Given the description of an element on the screen output the (x, y) to click on. 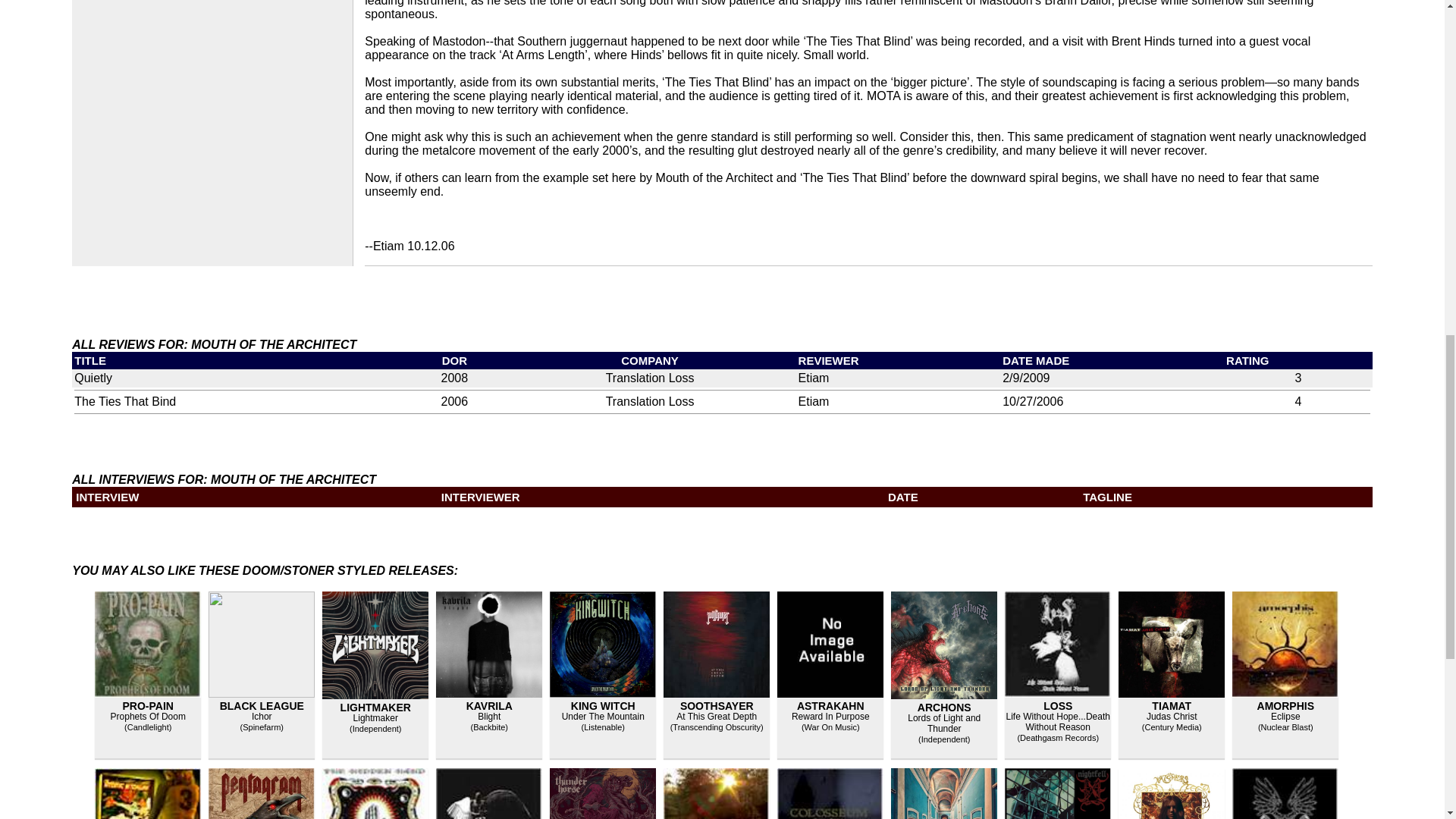
Reward In Purpose (830, 716)
Life Without Hope...Death Without Reason (1057, 721)
KING WITCH (602, 705)
Under The Mountain (603, 716)
Prophets Of Doom (148, 716)
Lightmaker (375, 717)
Ichor (261, 716)
LOSS (1057, 705)
BLACK LEAGUE (261, 705)
Blight (488, 716)
